Given the description of an element on the screen output the (x, y) to click on. 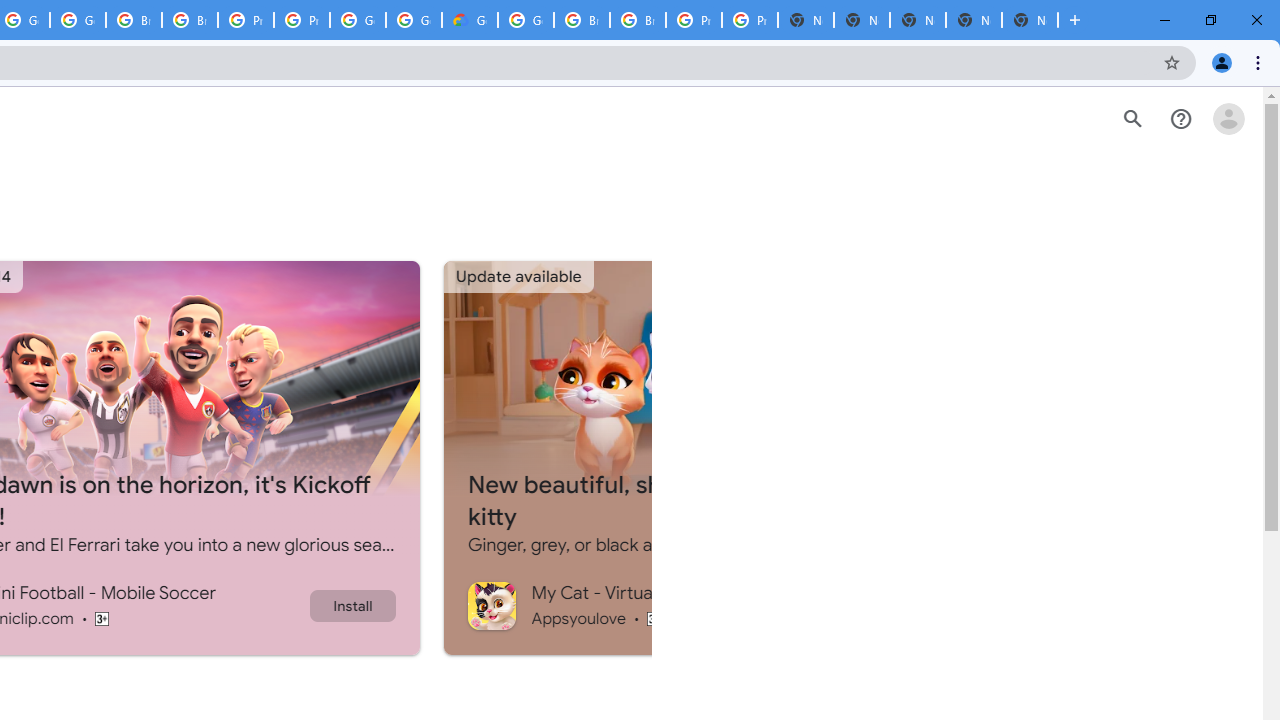
Open account menu (1228, 119)
Google Cloud Platform (525, 20)
Install (351, 605)
Google Cloud Platform (358, 20)
New Tab (1030, 20)
